Given the description of an element on the screen output the (x, y) to click on. 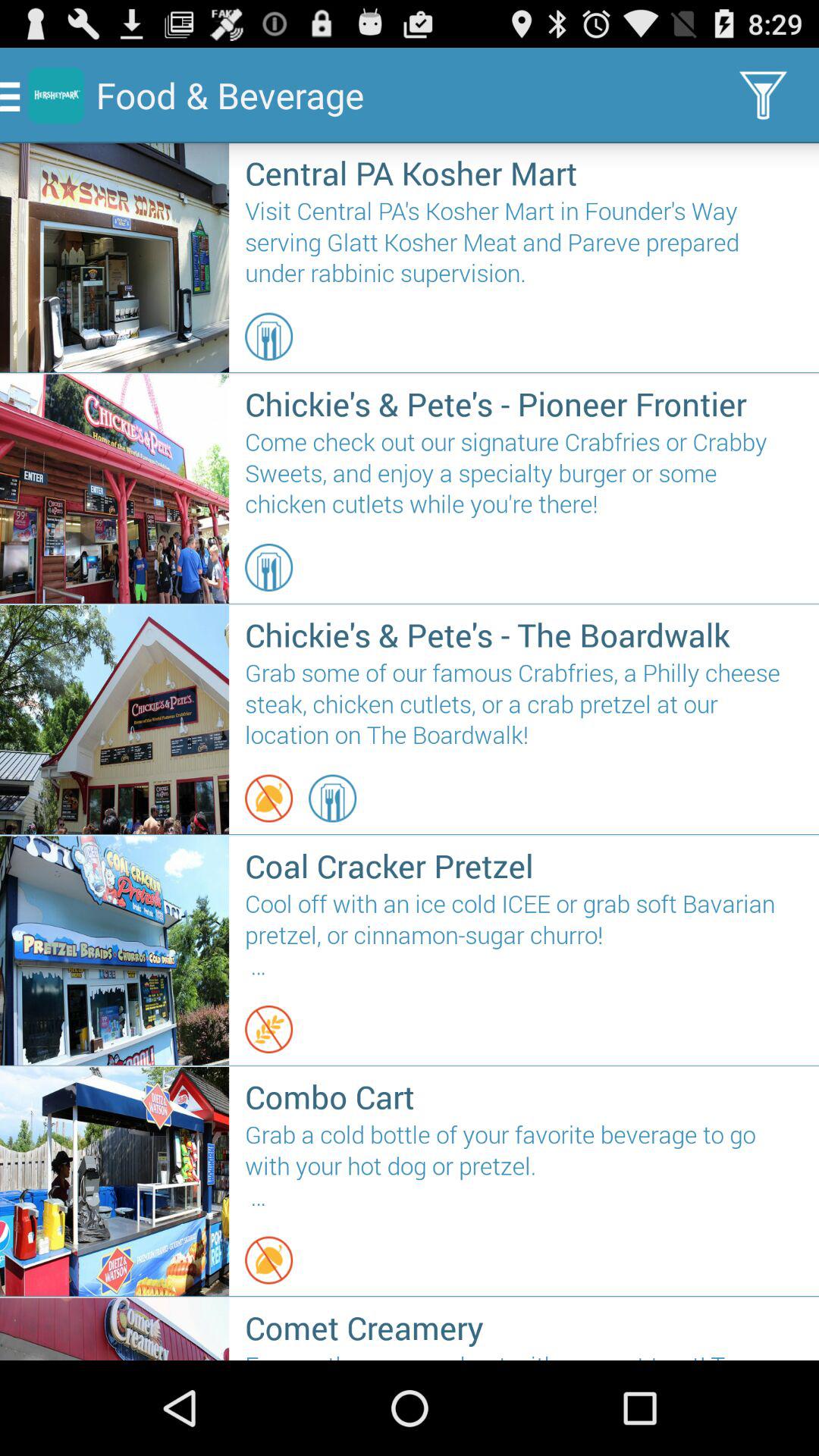
tap the icon below the cool off with (268, 1029)
